Given the description of an element on the screen output the (x, y) to click on. 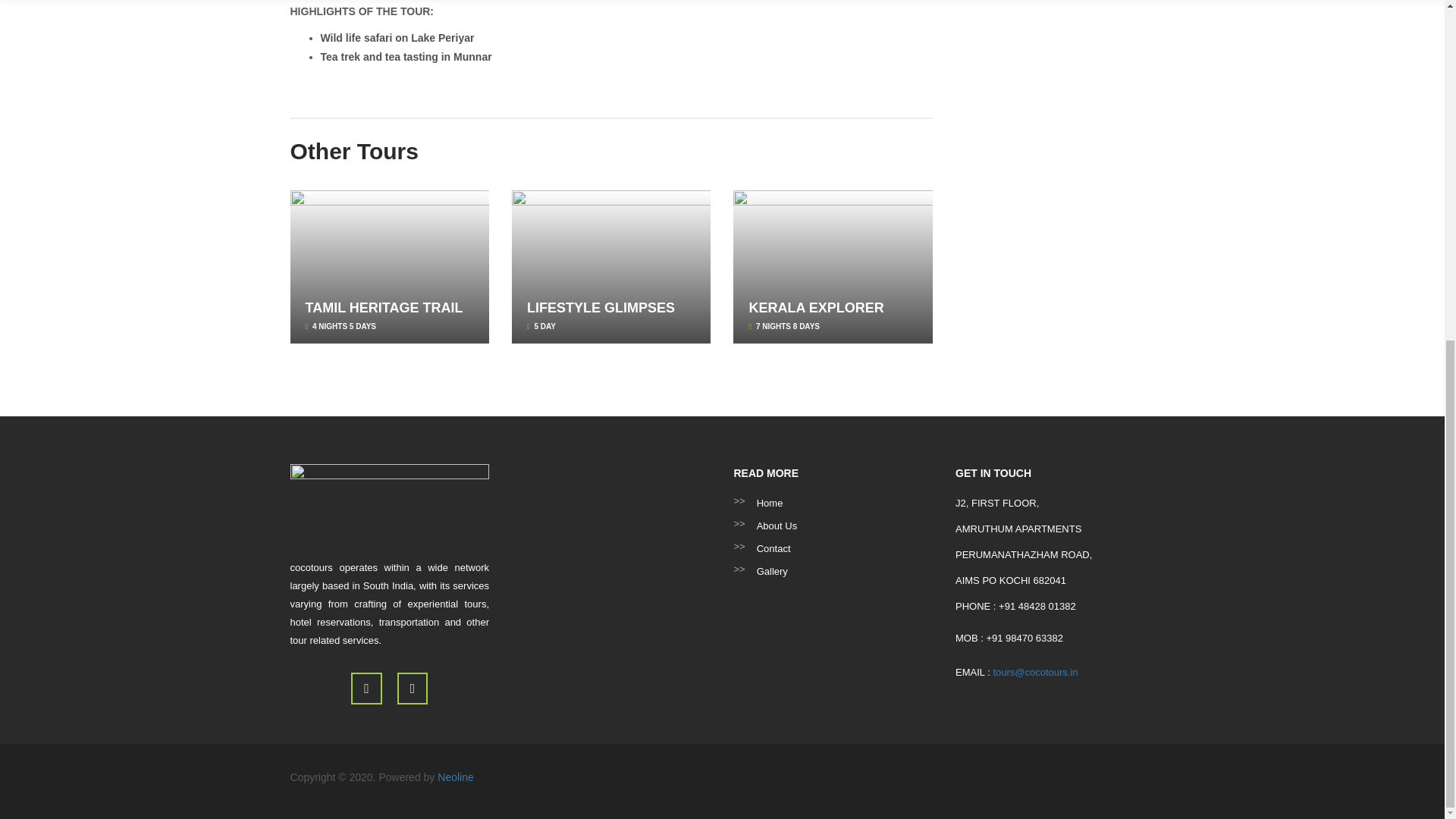
About Us (833, 526)
Home (833, 503)
KERALA EXPLORER (815, 307)
TAMIL HERITAGE TRAIL (383, 307)
LIFESTYLE GLIMPSES (601, 307)
